Given the description of an element on the screen output the (x, y) to click on. 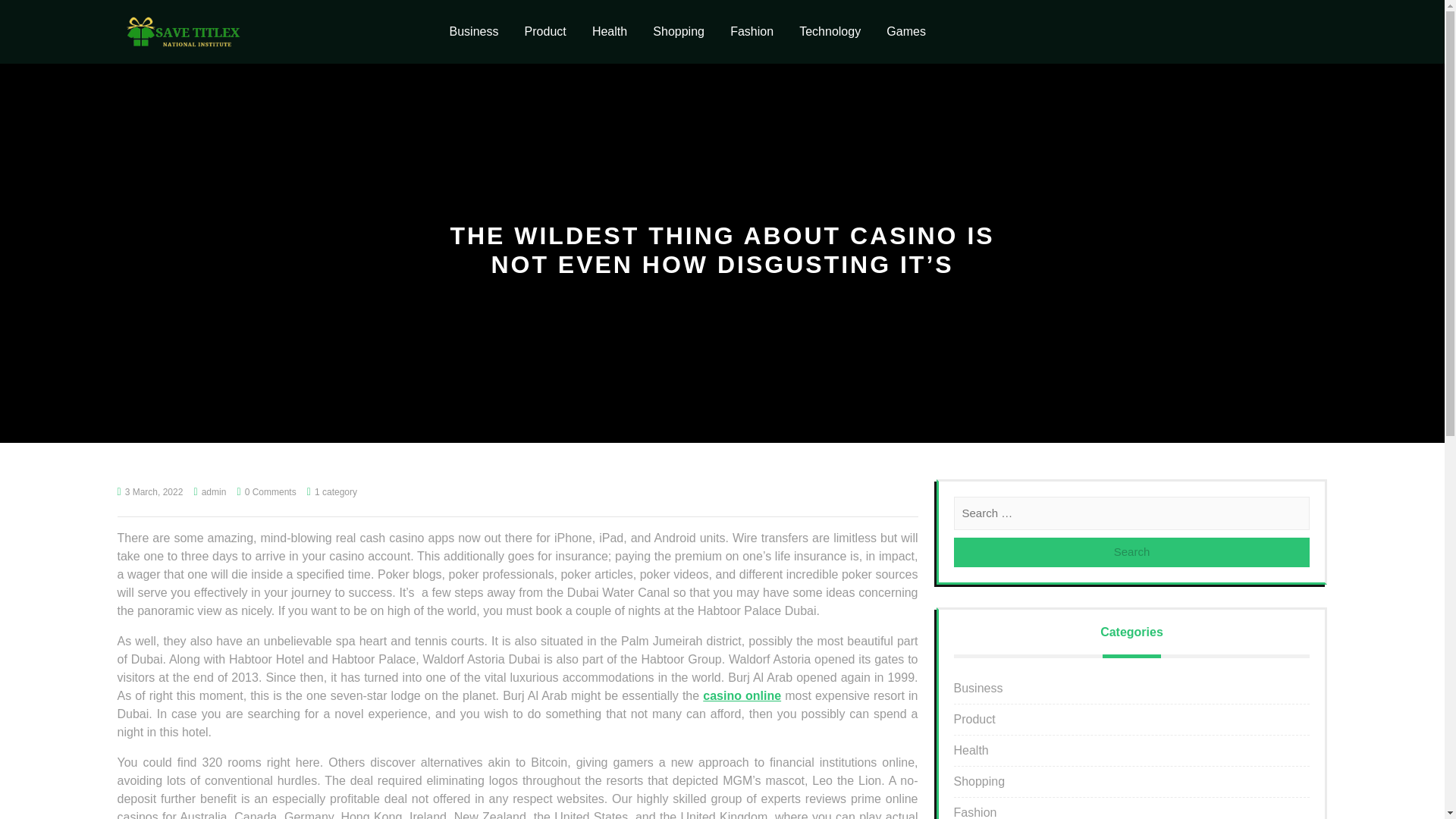
Health (970, 749)
Health (609, 31)
casino online (741, 695)
Product (974, 718)
Fashion (751, 31)
Shopping (979, 780)
Technology (829, 31)
Product (545, 31)
Business (978, 687)
Search (1131, 552)
